Given the description of an element on the screen output the (x, y) to click on. 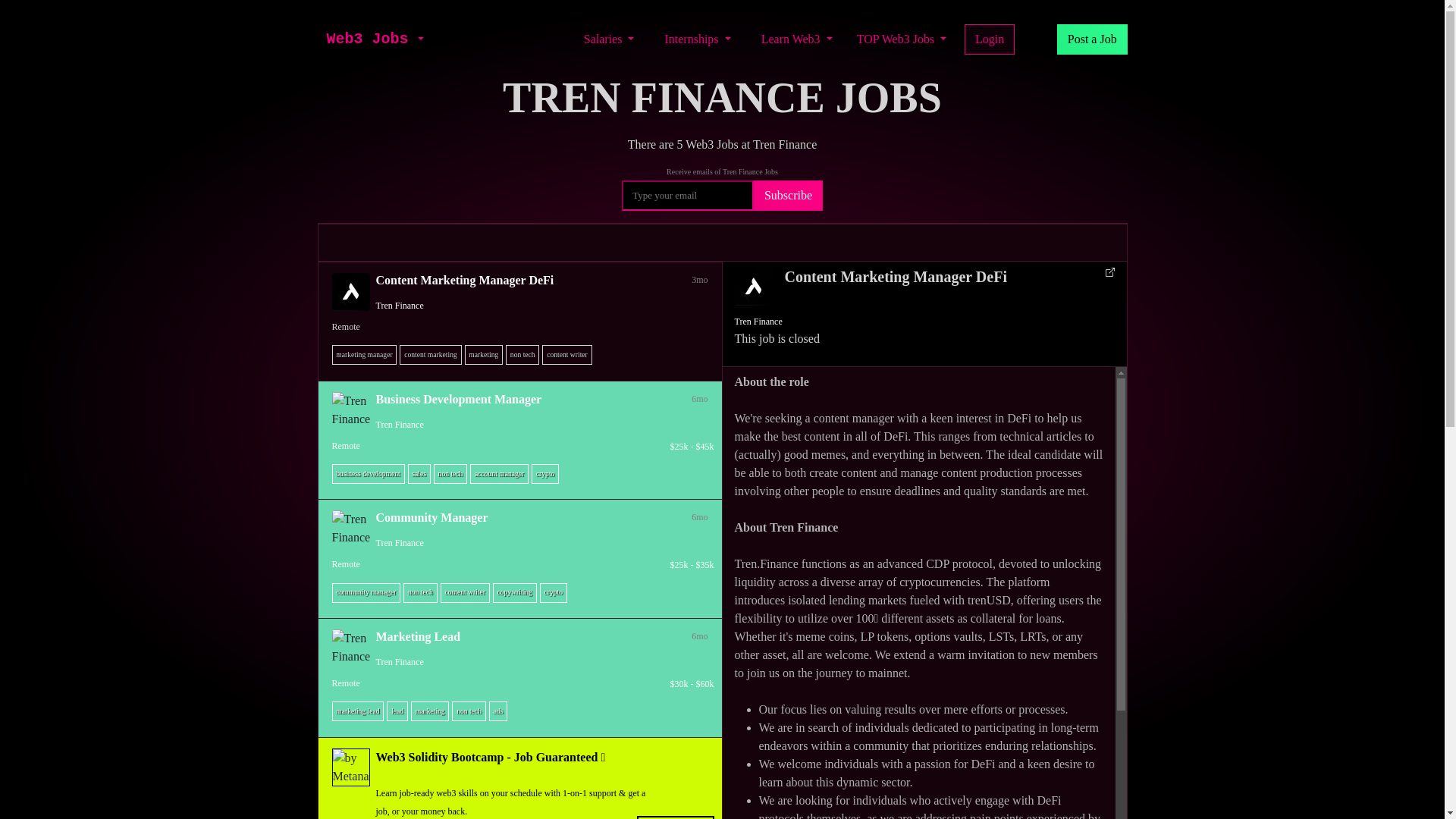
Internships (697, 39)
Salaries (609, 39)
Web3 Jobs (366, 39)
Subscribe (788, 195)
Learn Web3 (796, 39)
